Given the description of an element on the screen output the (x, y) to click on. 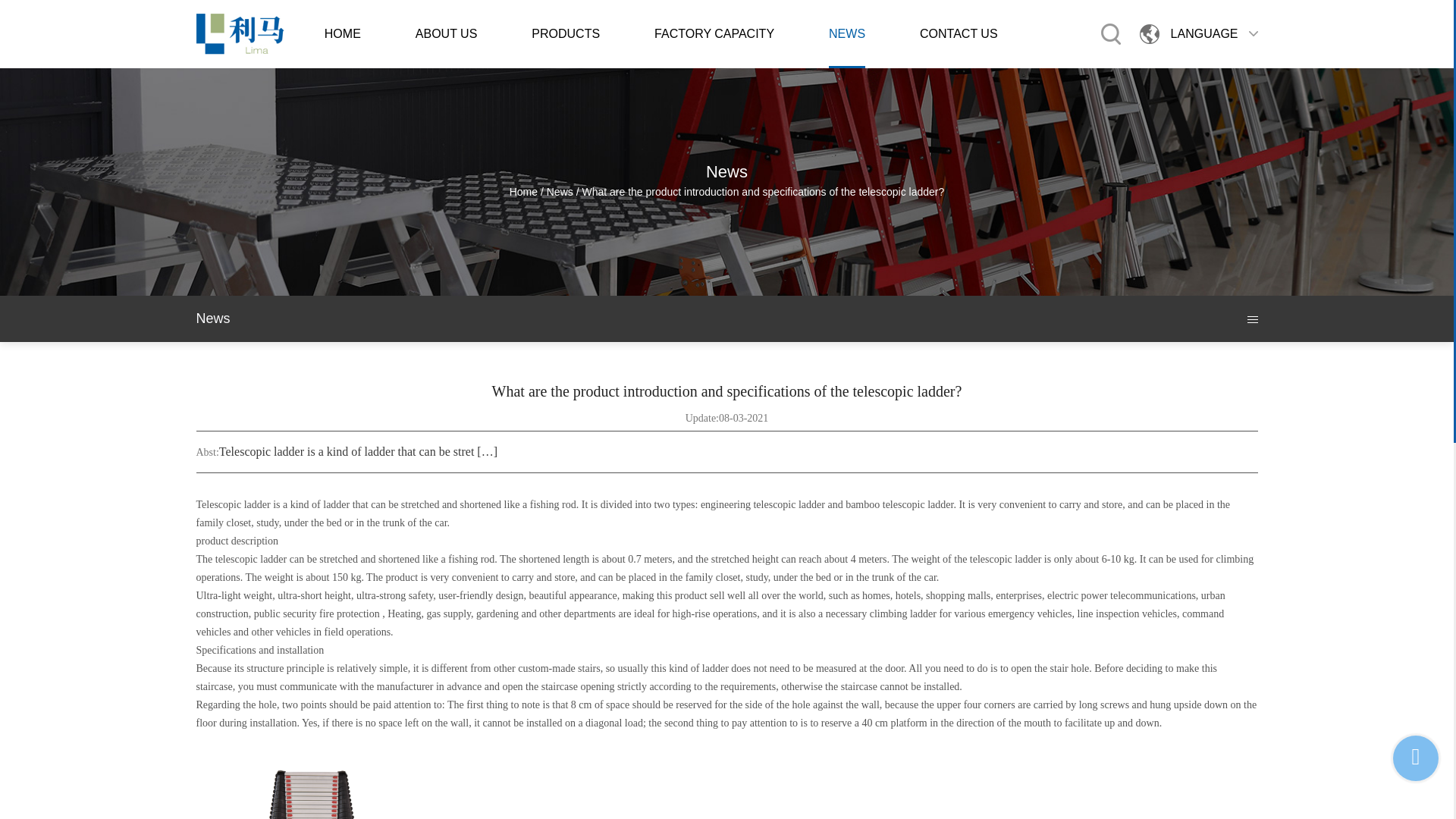
ABOUT US (445, 33)
